Given the description of an element on the screen output the (x, y) to click on. 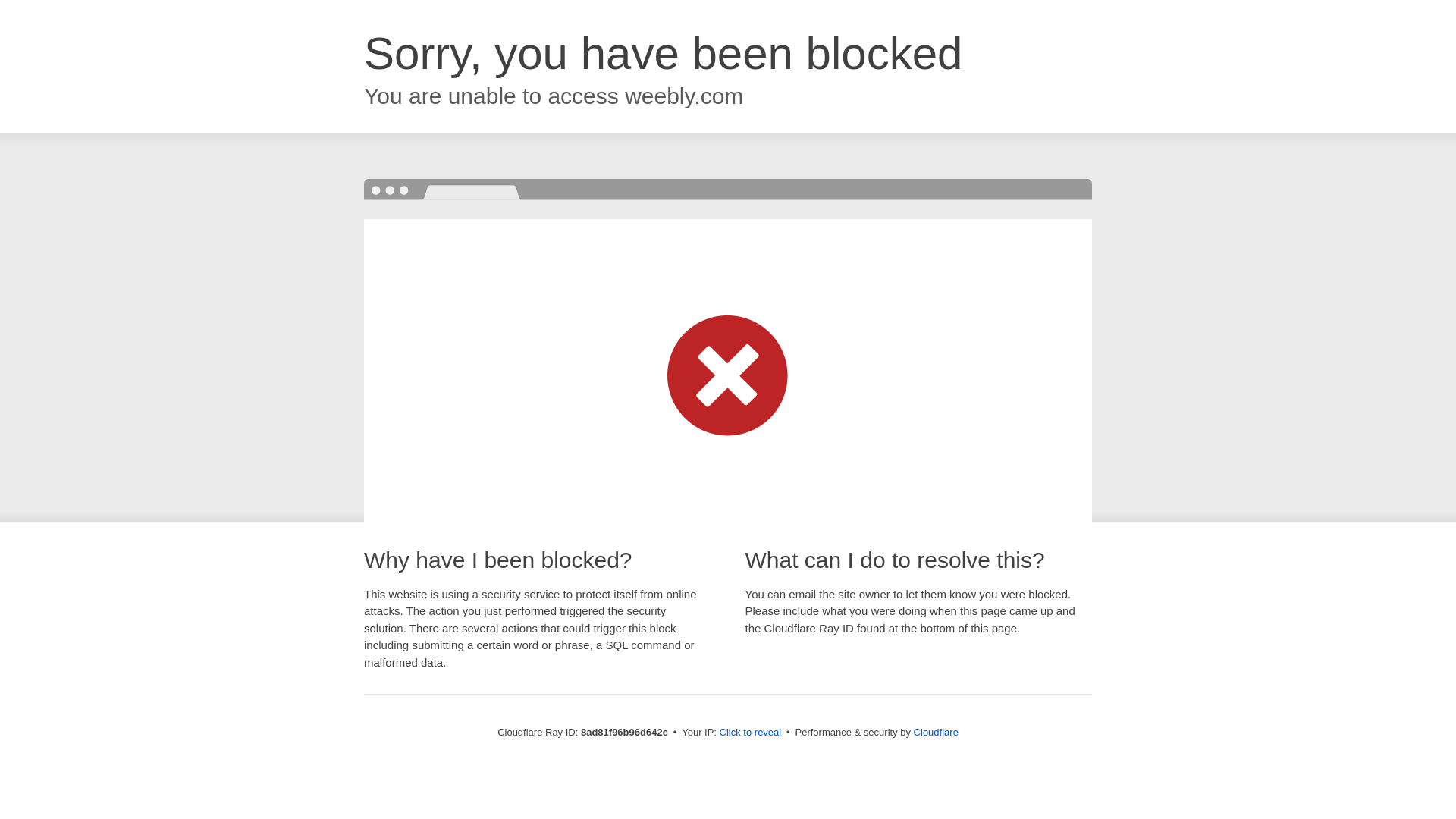
Click to reveal (750, 732)
Cloudflare (936, 731)
